Given the description of an element on the screen output the (x, y) to click on. 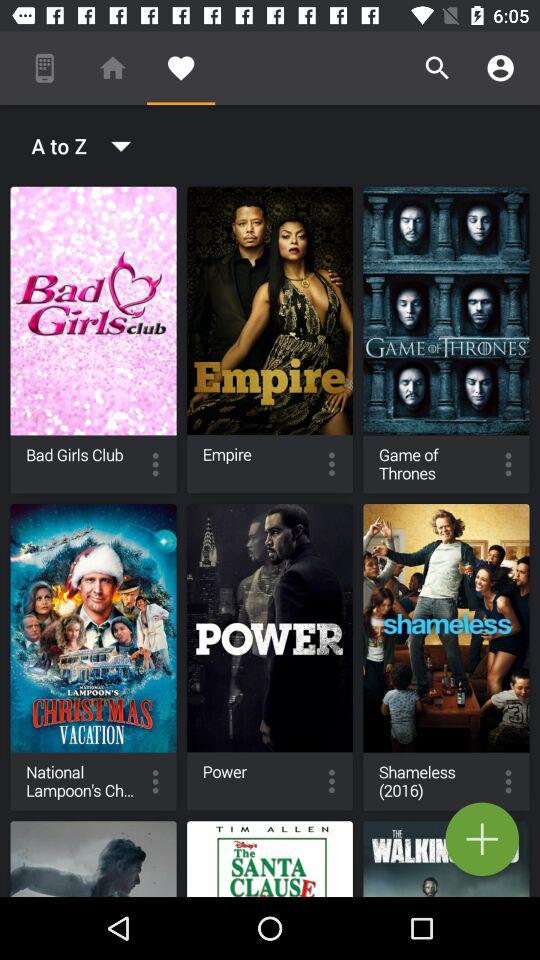
select the santa clause movie below the power movie (269, 858)
click on the image which is located at second row first column (93, 657)
select  top center button (269, 340)
third option in second row (445, 657)
click on mobile icon (44, 67)
click on first row first image (93, 340)
select the option home (112, 67)
click on green color plus symbol (482, 839)
